Given the description of an element on the screen output the (x, y) to click on. 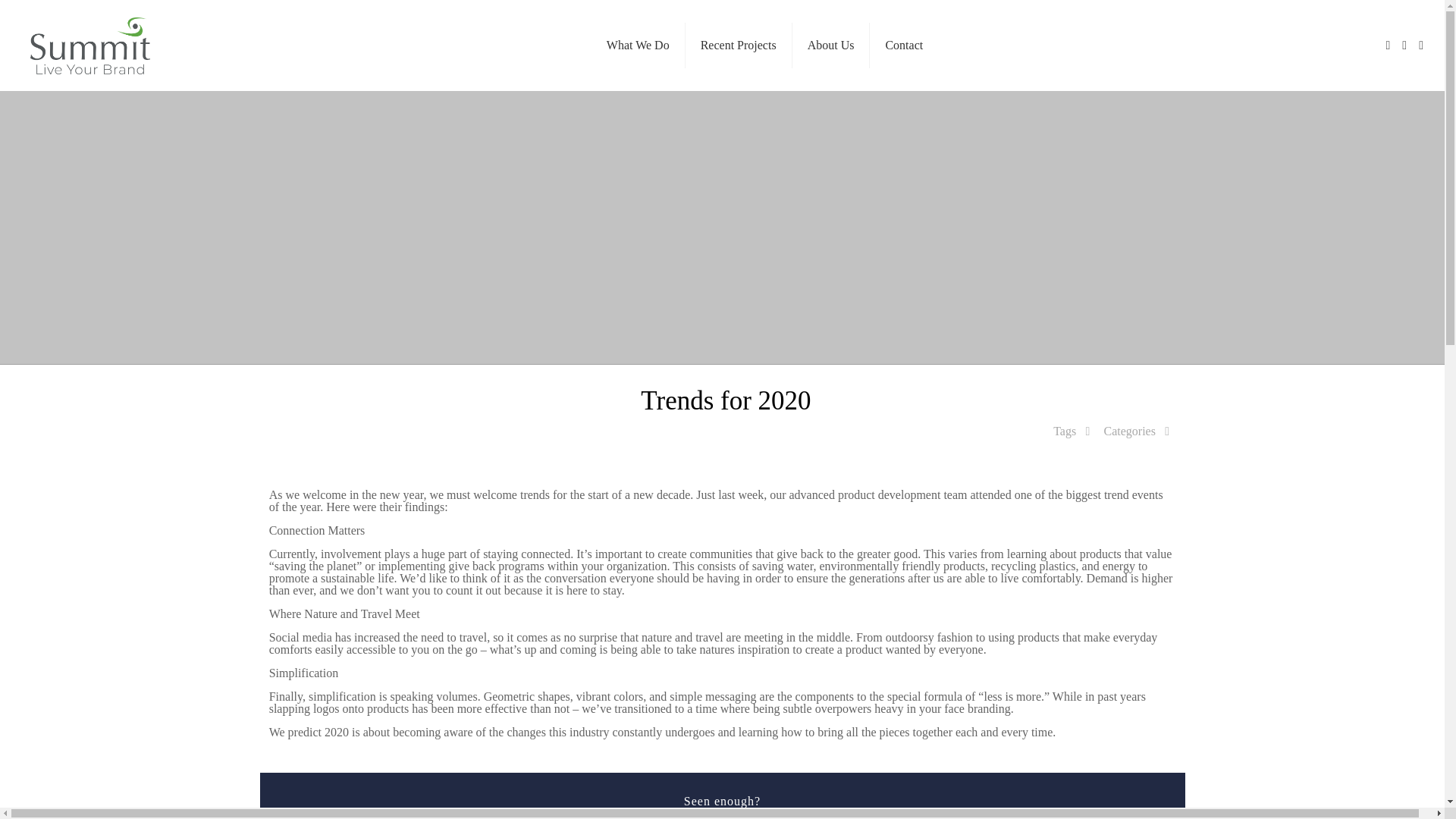
What We Do (638, 45)
Contact (903, 45)
Recent Projects (738, 45)
About Us (831, 45)
